Given the description of an element on the screen output the (x, y) to click on. 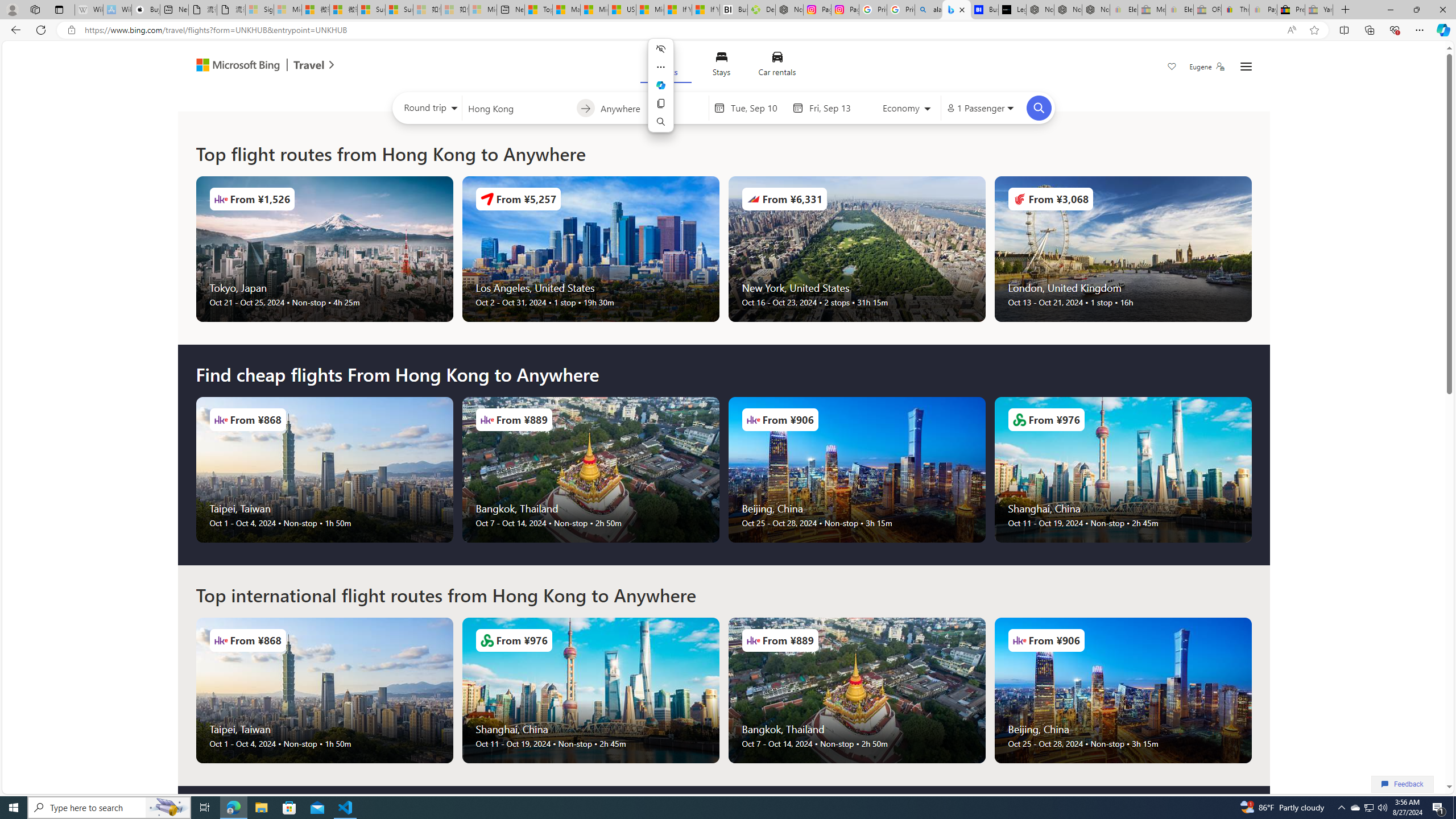
Travel (308, 65)
Top Stories - MSN (538, 9)
